Given the description of an element on the screen output the (x, y) to click on. 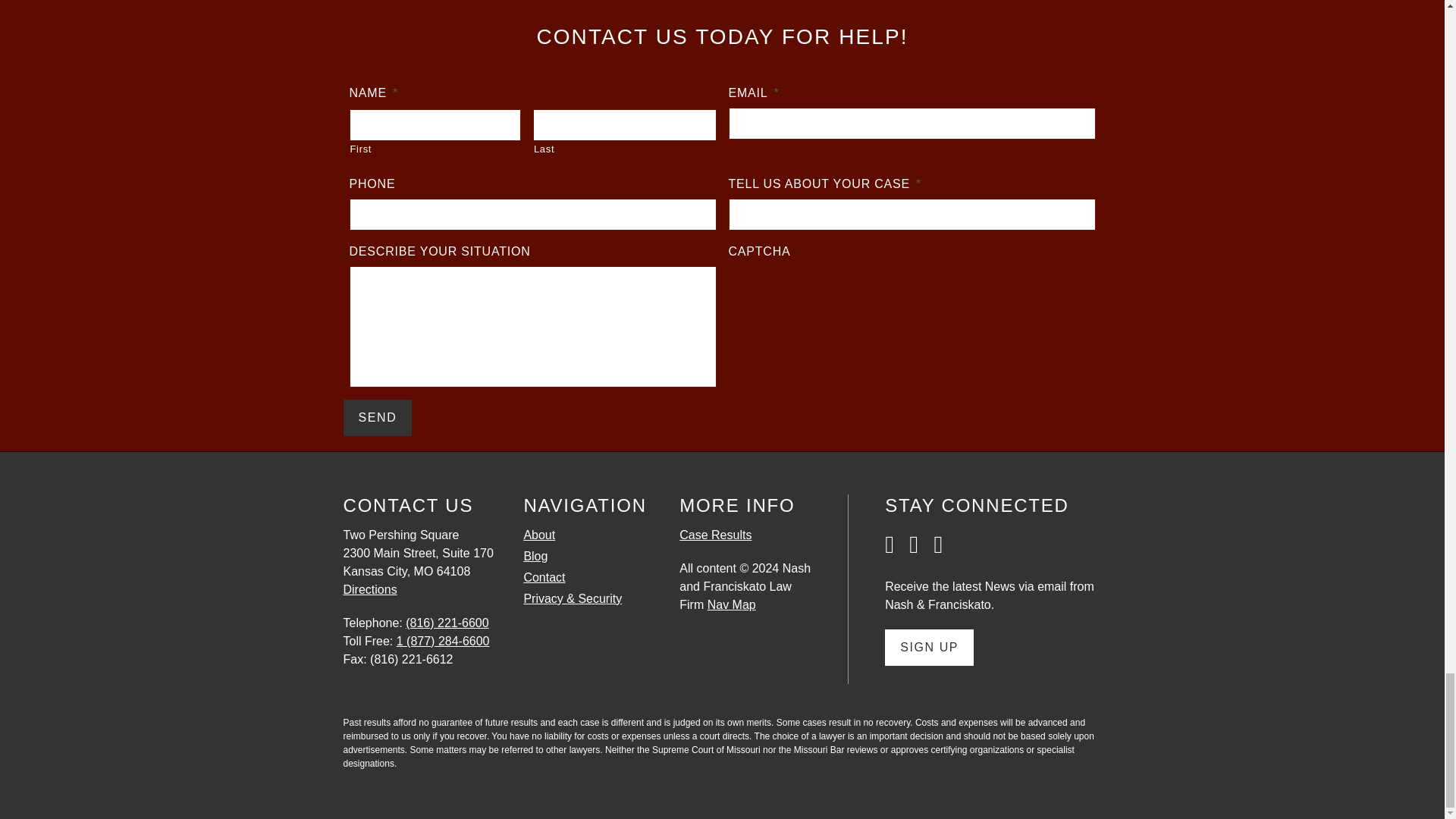
Send (377, 417)
